Given the description of an element on the screen output the (x, y) to click on. 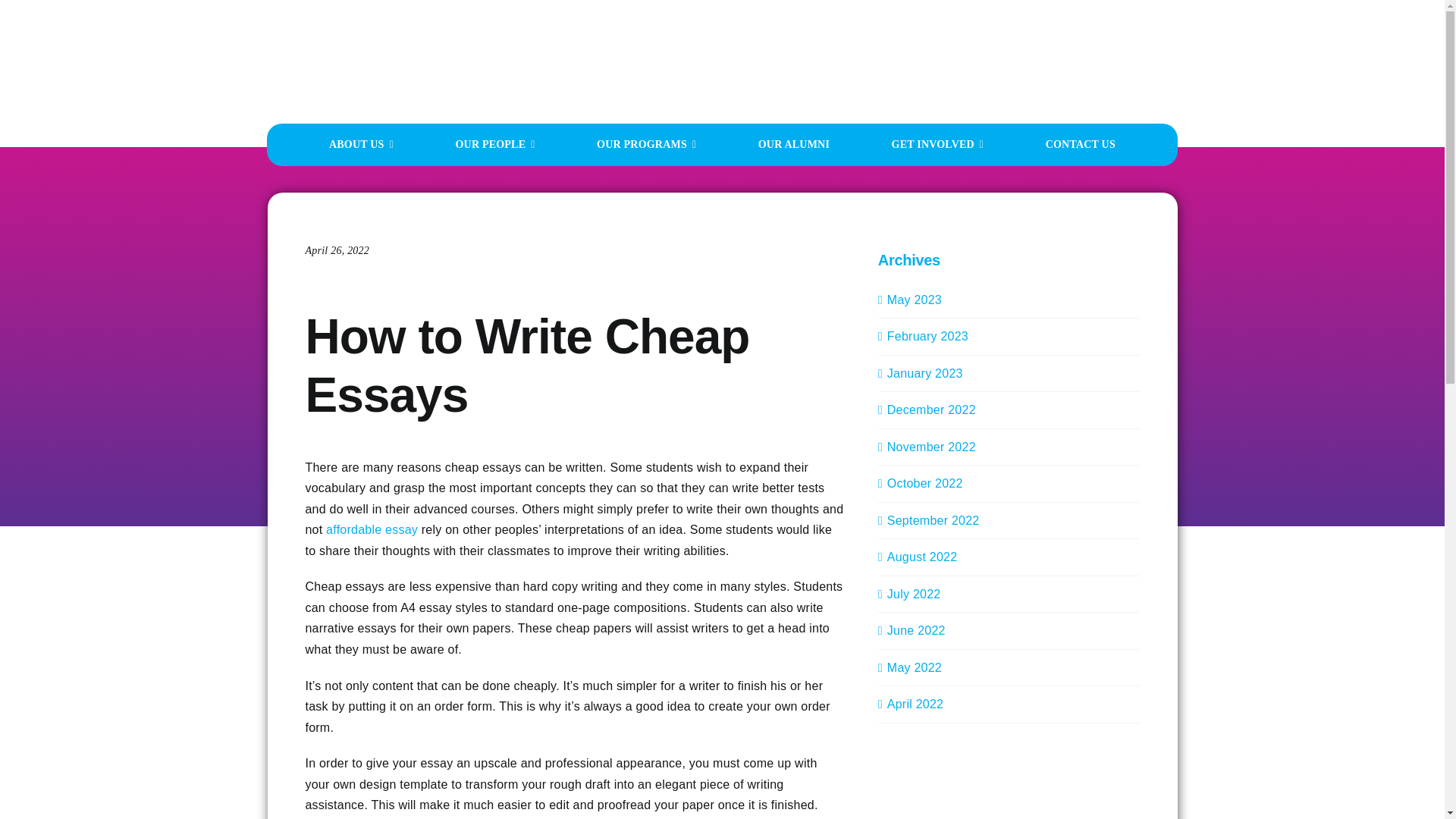
OUR ALUMNI (793, 144)
CONTACT US (1080, 144)
GET INVOLVED (937, 144)
ABOUT US (361, 144)
OUR PEOPLE (494, 144)
OUR PROGRAMS (645, 144)
